Given the description of an element on the screen output the (x, y) to click on. 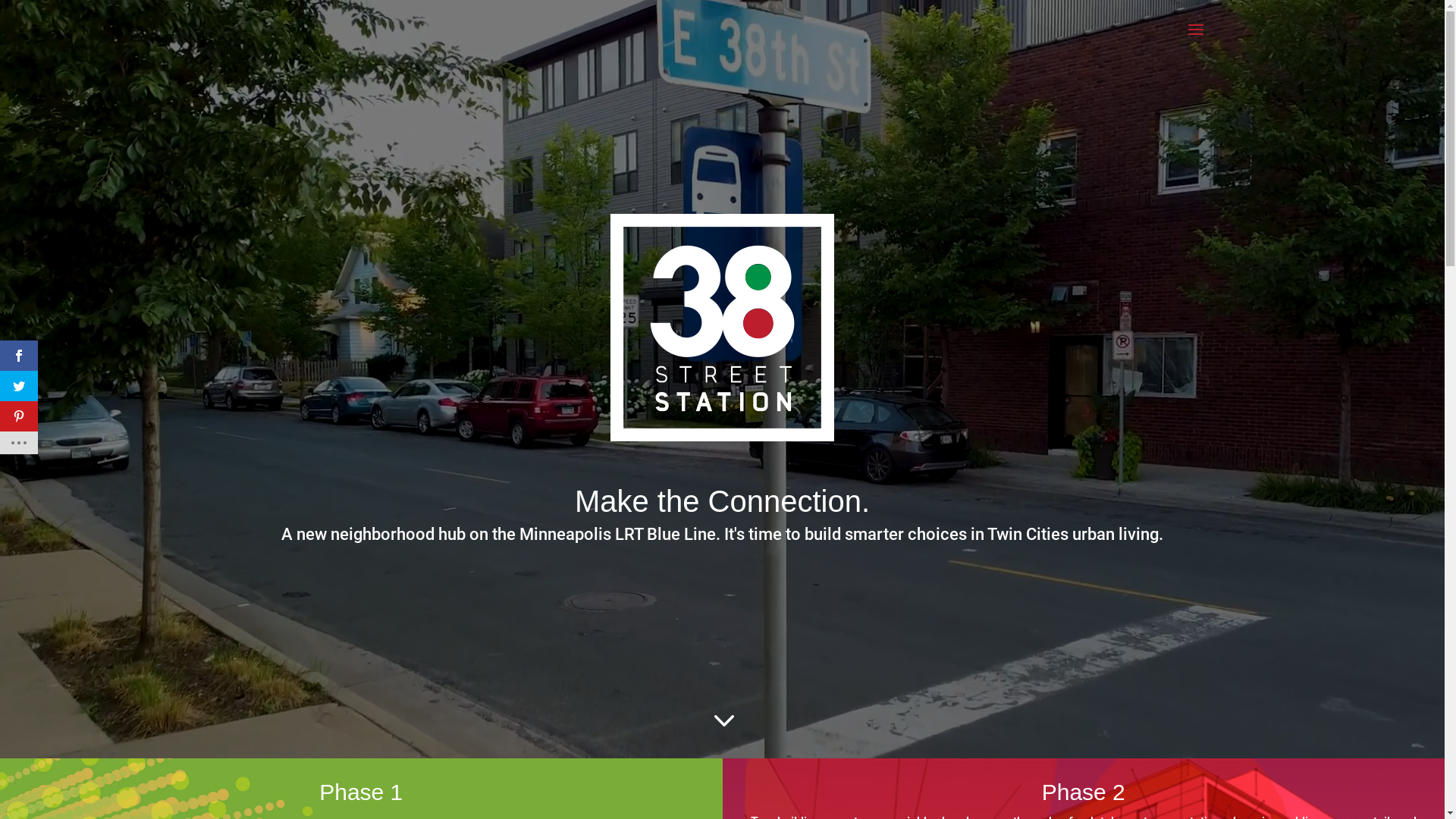
3 Element type: text (721, 720)
Phase 1 Element type: text (360, 791)
